Given the description of an element on the screen output the (x, y) to click on. 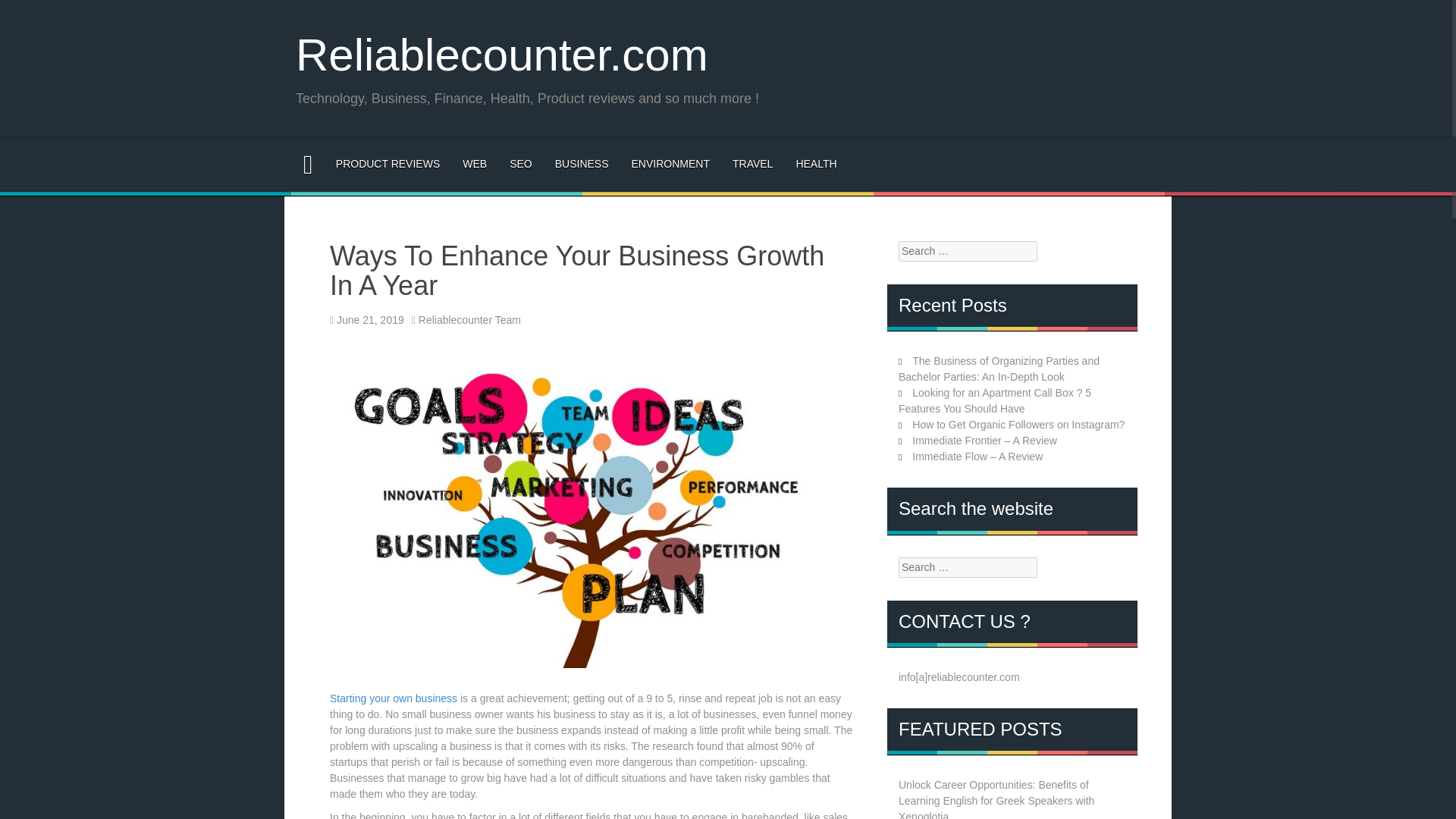
WEB (474, 163)
BUSINESS (581, 163)
PRODUCT REVIEWS (387, 163)
SEO (520, 163)
TRAVEL (752, 163)
ENVIRONMENT (670, 163)
HEALTH (814, 163)
Starting your own business (393, 698)
